Given the description of an element on the screen output the (x, y) to click on. 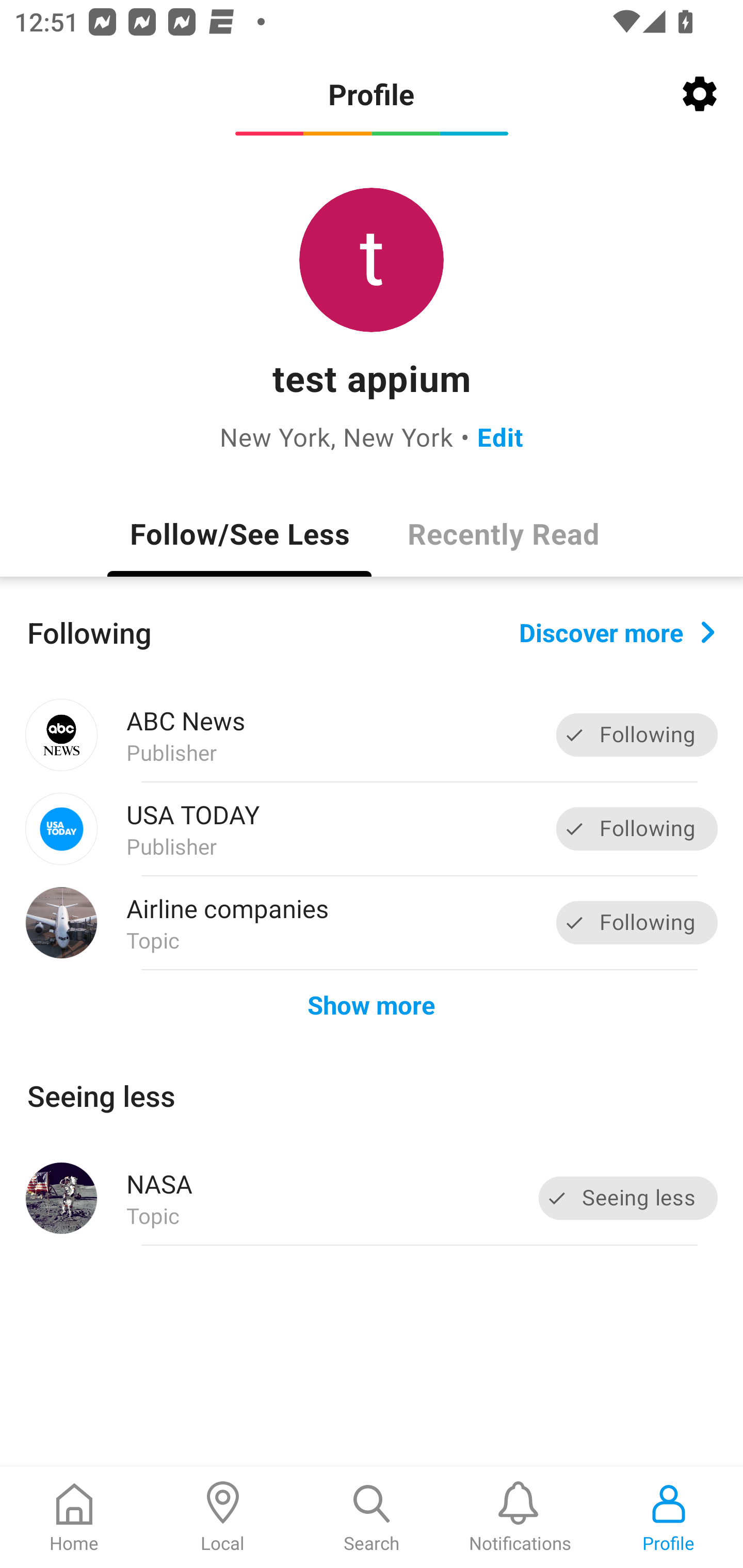
Settings (699, 93)
Edit (500, 436)
Recently Read (503, 533)
Discover more (617, 631)
ABC News Publisher Following (371, 735)
Following (636, 735)
USA TODAY Publisher Following (371, 829)
Following (636, 828)
Airline companies Topic Following (371, 922)
Following (636, 922)
Show more (371, 1004)
NASA Topic Seeing less (371, 1197)
Seeing less (627, 1197)
Home (74, 1517)
Local (222, 1517)
Search (371, 1517)
Notifications (519, 1517)
